Given the description of an element on the screen output the (x, y) to click on. 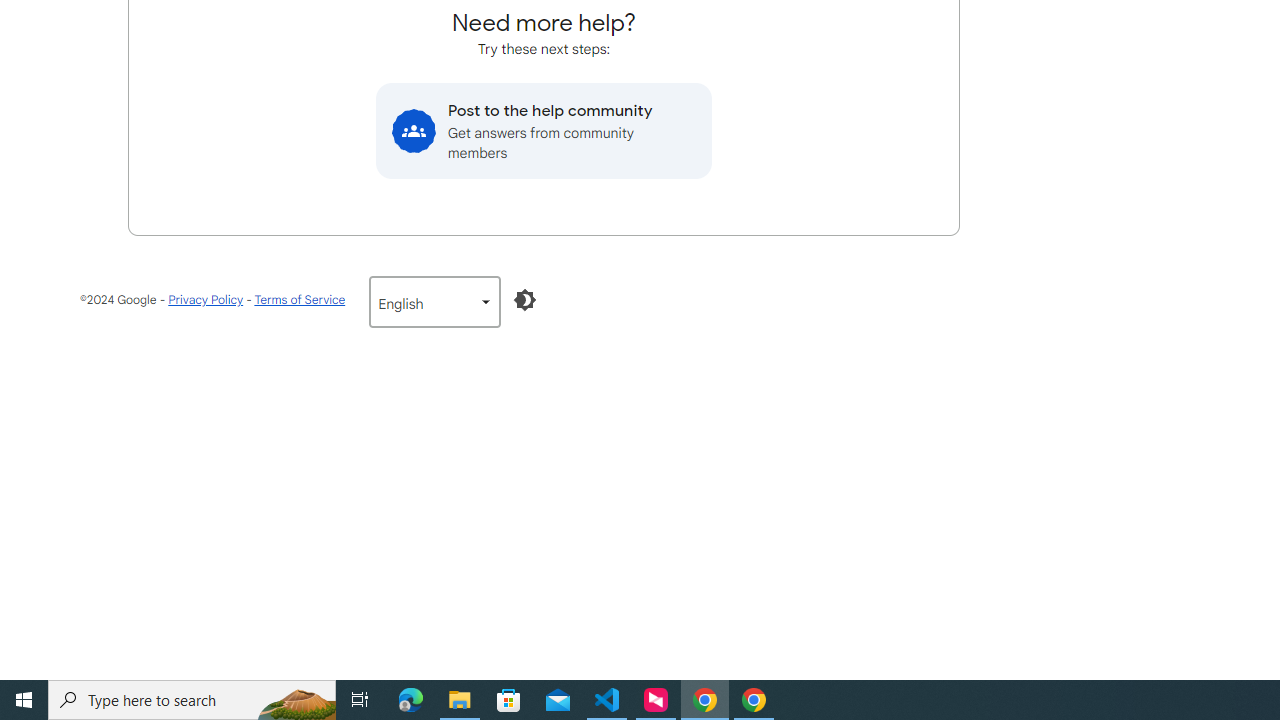
Enable Dark Mode (525, 299)
